Given the description of an element on the screen output the (x, y) to click on. 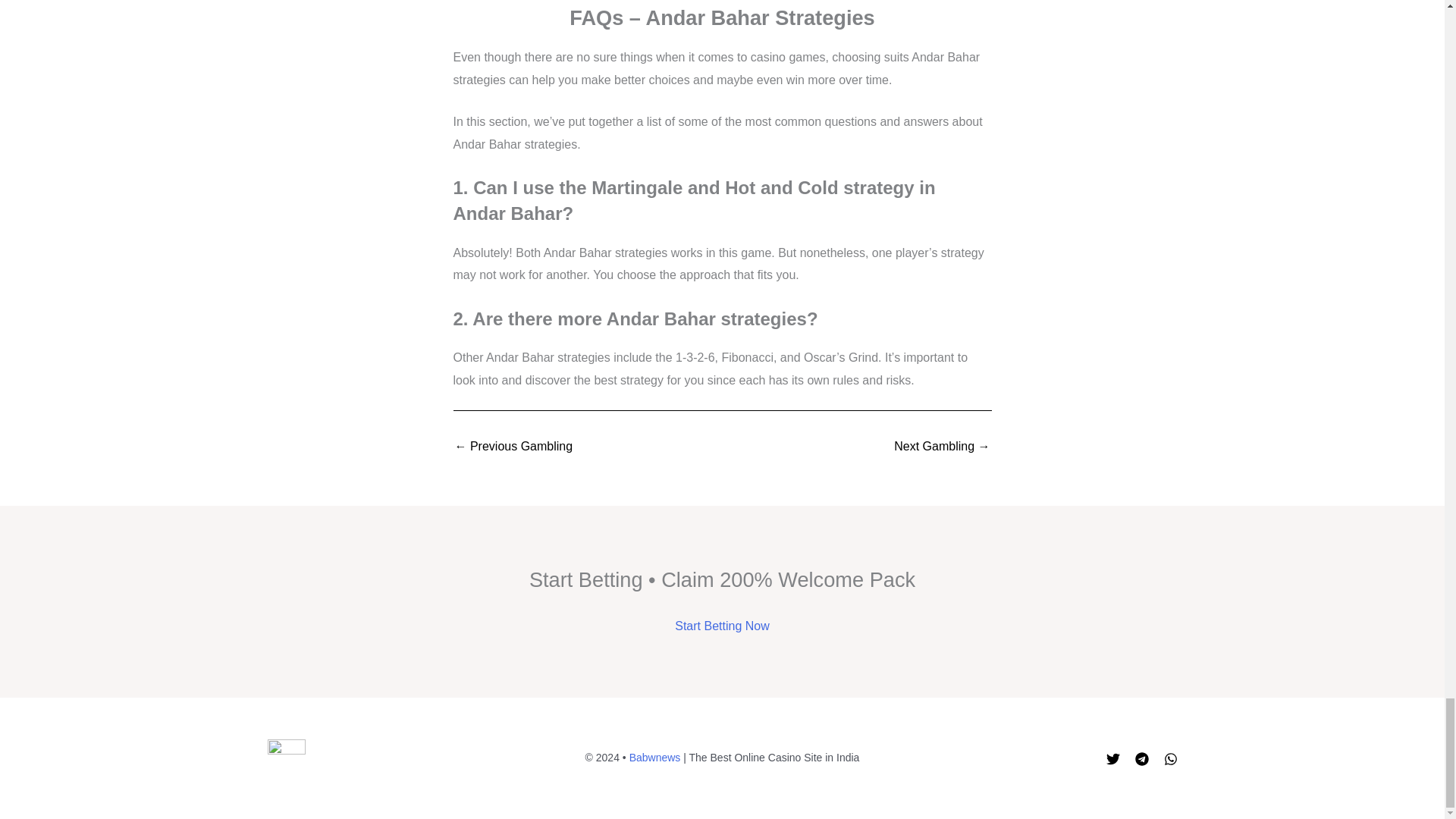
Dive into the Fun World of Pool Rummy Online With 7Cric (513, 446)
